Given the description of an element on the screen output the (x, y) to click on. 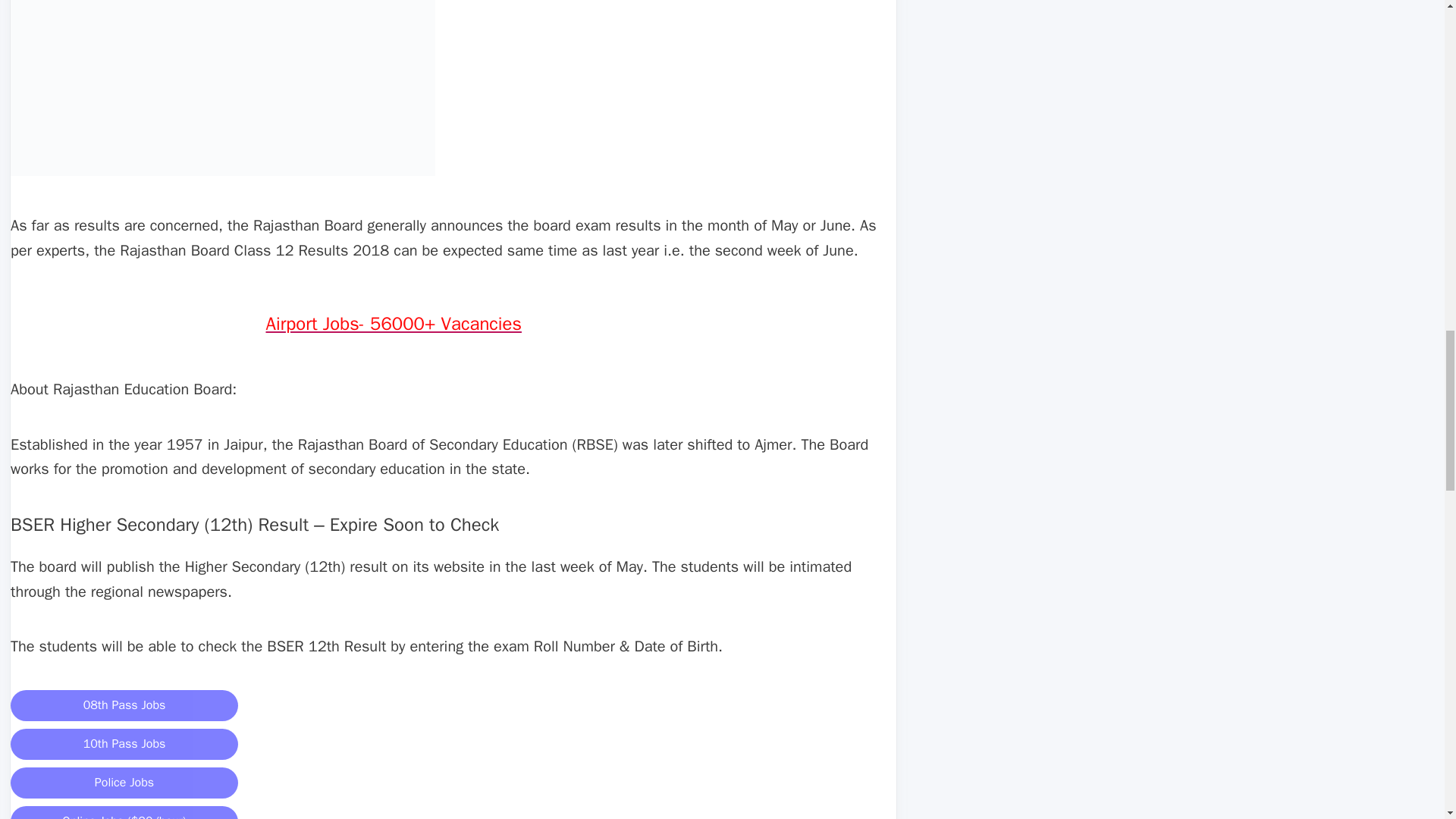
08th Pass Jobs (124, 703)
Police Jobs (124, 782)
RBSE Class 12 Result (222, 88)
08th Pass Jobs (124, 705)
10th Pass Jobs (124, 742)
10th Pass Jobs (124, 744)
Police Jobs (124, 781)
